Given the description of an element on the screen output the (x, y) to click on. 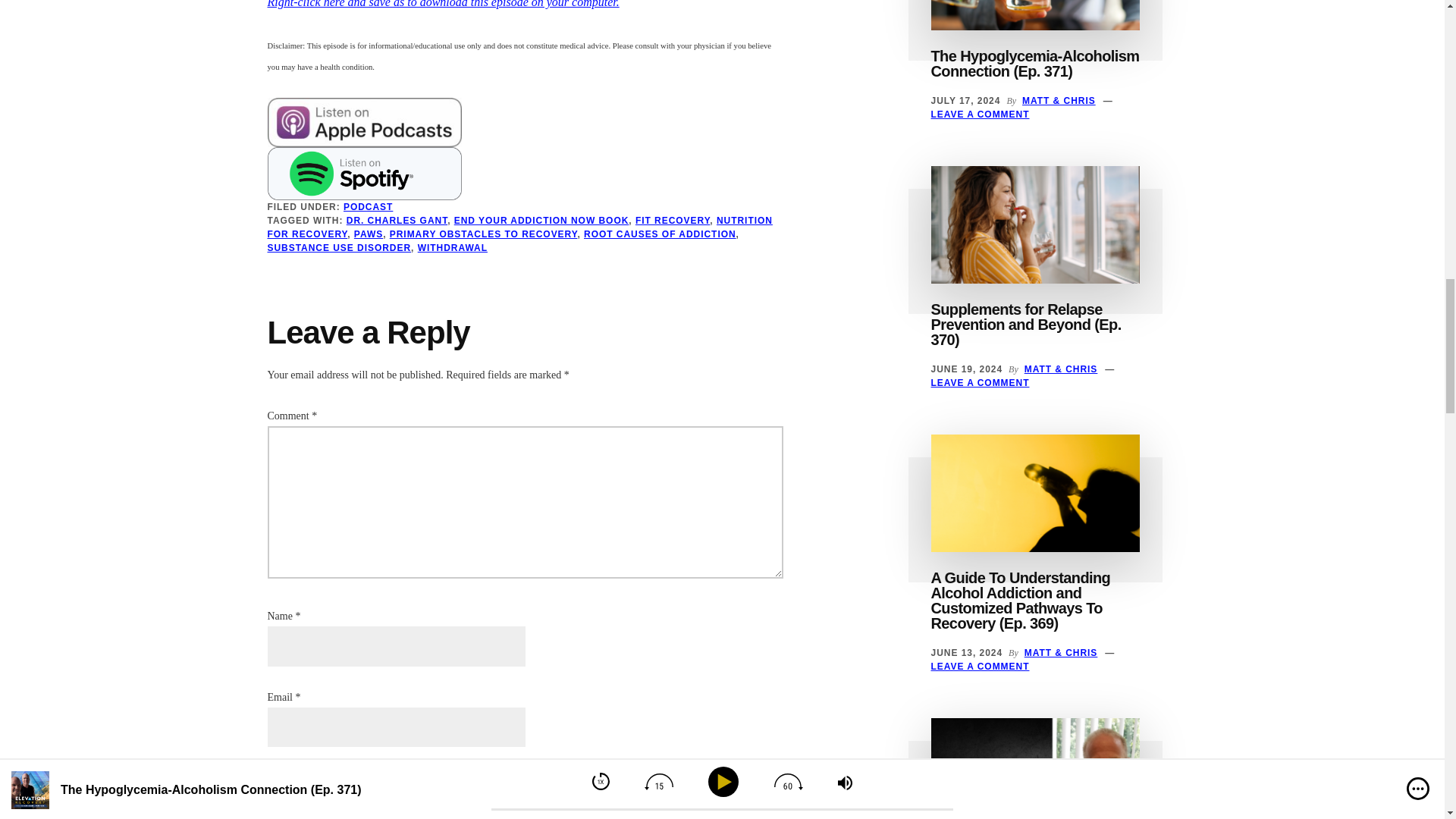
PRIMARY OBSTACLES TO RECOVERY (484, 234)
END YOUR ADDICTION NOW BOOK (541, 220)
ROOT CAUSES OF ADDICTION (659, 234)
SUBSTANCE USE DISORDER (338, 247)
FIT RECOVERY (672, 220)
PODCAST (368, 206)
DR. CHARLES GANT (396, 220)
WITHDRAWAL (452, 247)
NUTRITION FOR RECOVERY (518, 227)
PAWS (367, 234)
